Given the description of an element on the screen output the (x, y) to click on. 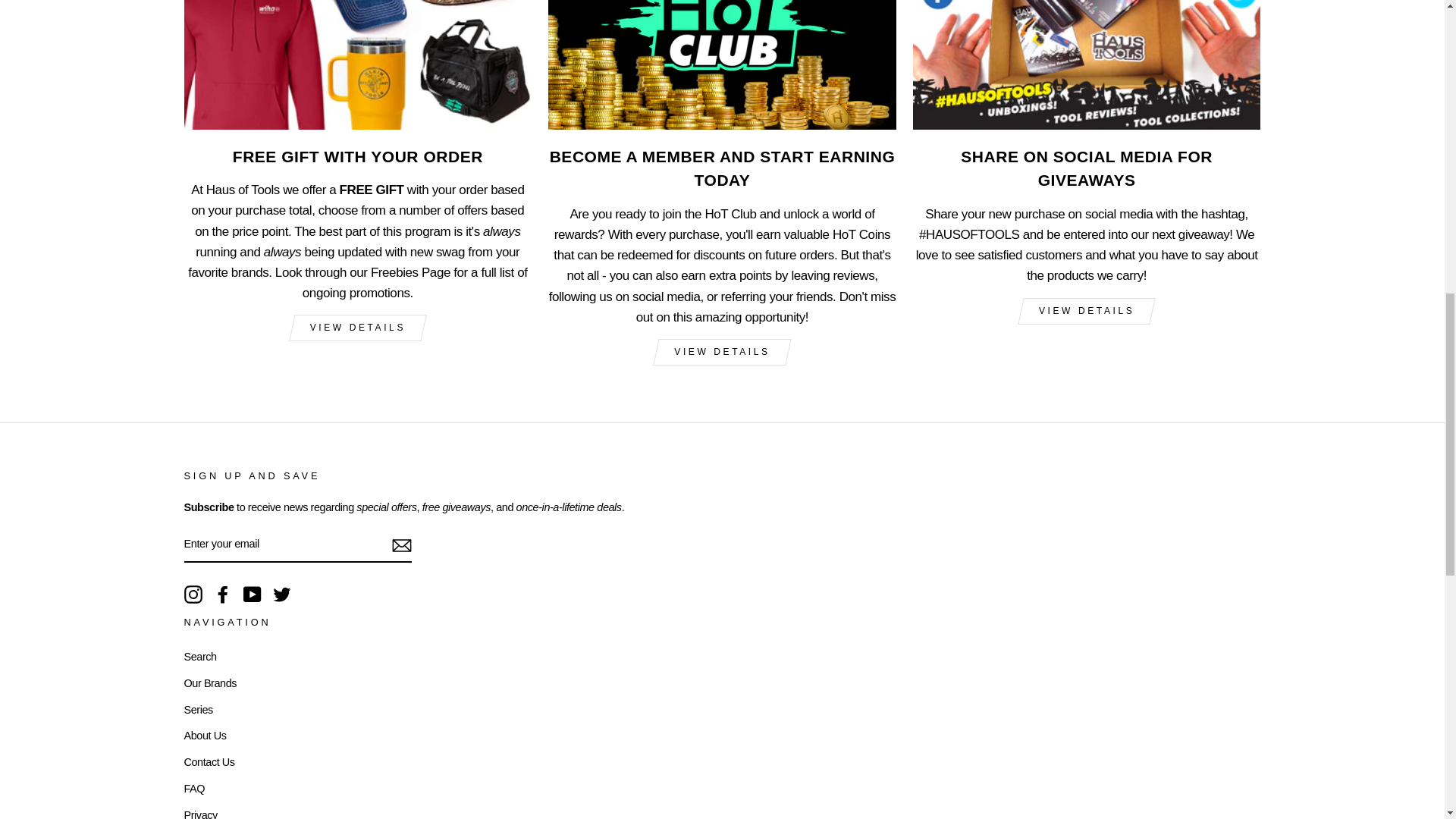
Haus of Tools on Instagram (192, 594)
Haus of Tools on Twitter (282, 594)
Haus of Tools on YouTube (251, 594)
Haus of Tools on Facebook (222, 594)
